Given the description of an element on the screen output the (x, y) to click on. 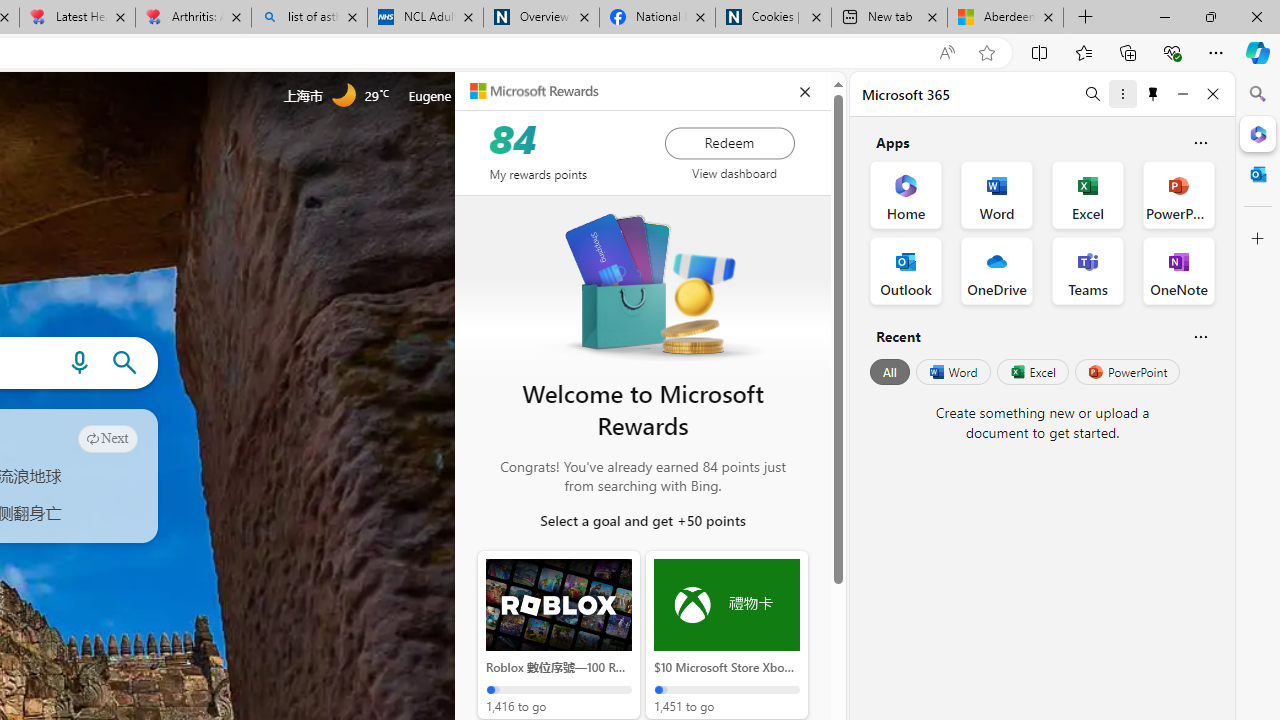
All (890, 372)
NCL Adult Asthma Inhaler Choice Guideline (424, 17)
Cookies | About | NICE (772, 17)
PowerPoint (1127, 372)
Eugene (457, 95)
AutomationID: rh_meter (543, 94)
Outlook Office App (906, 270)
Home Office App (906, 194)
